Given the description of an element on the screen output the (x, y) to click on. 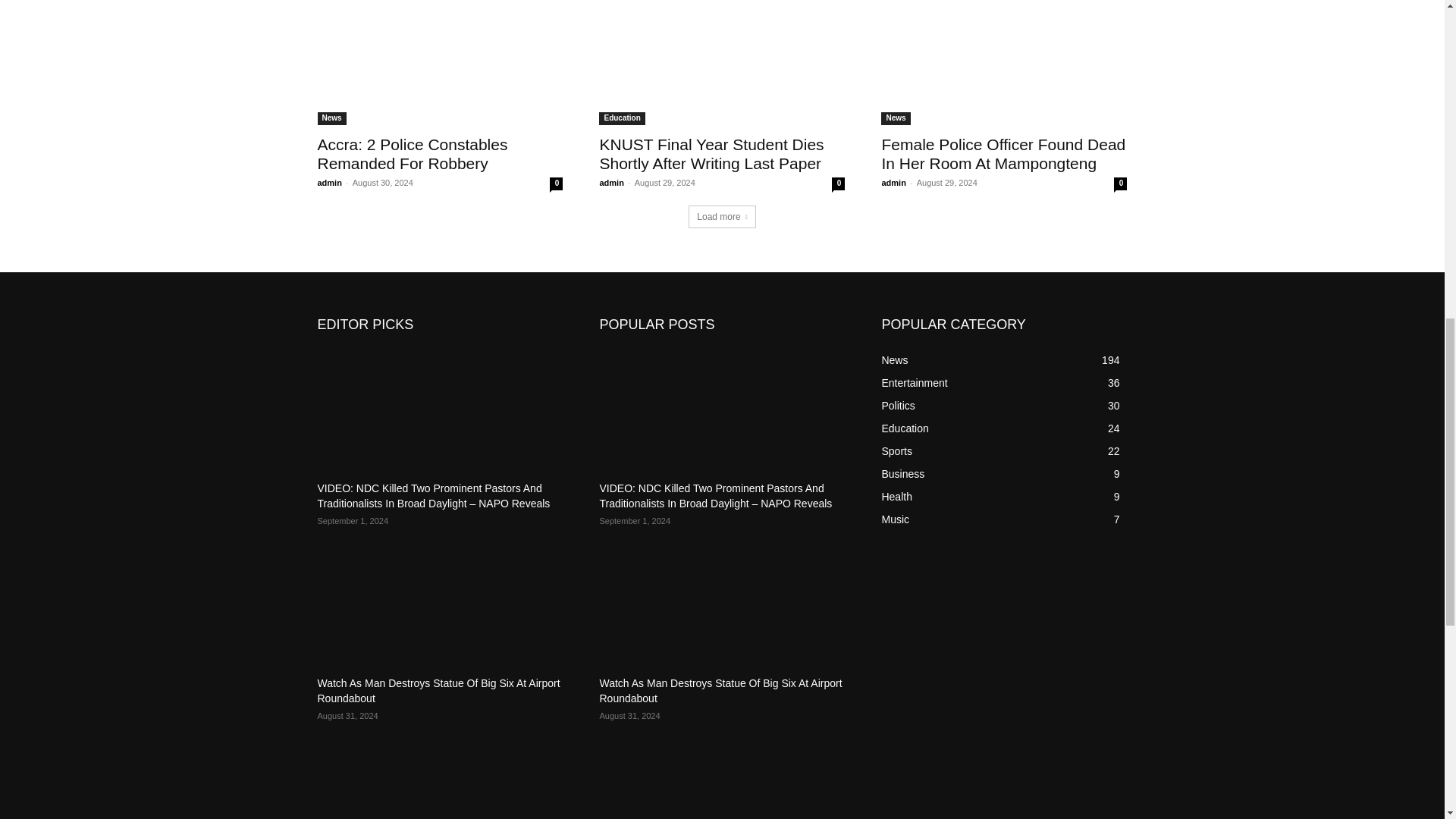
Accra: 2 Police Constables Remanded For Robbery (439, 63)
Accra: 2 Police Constables Remanded For Robbery (411, 153)
